Given the description of an element on the screen output the (x, y) to click on. 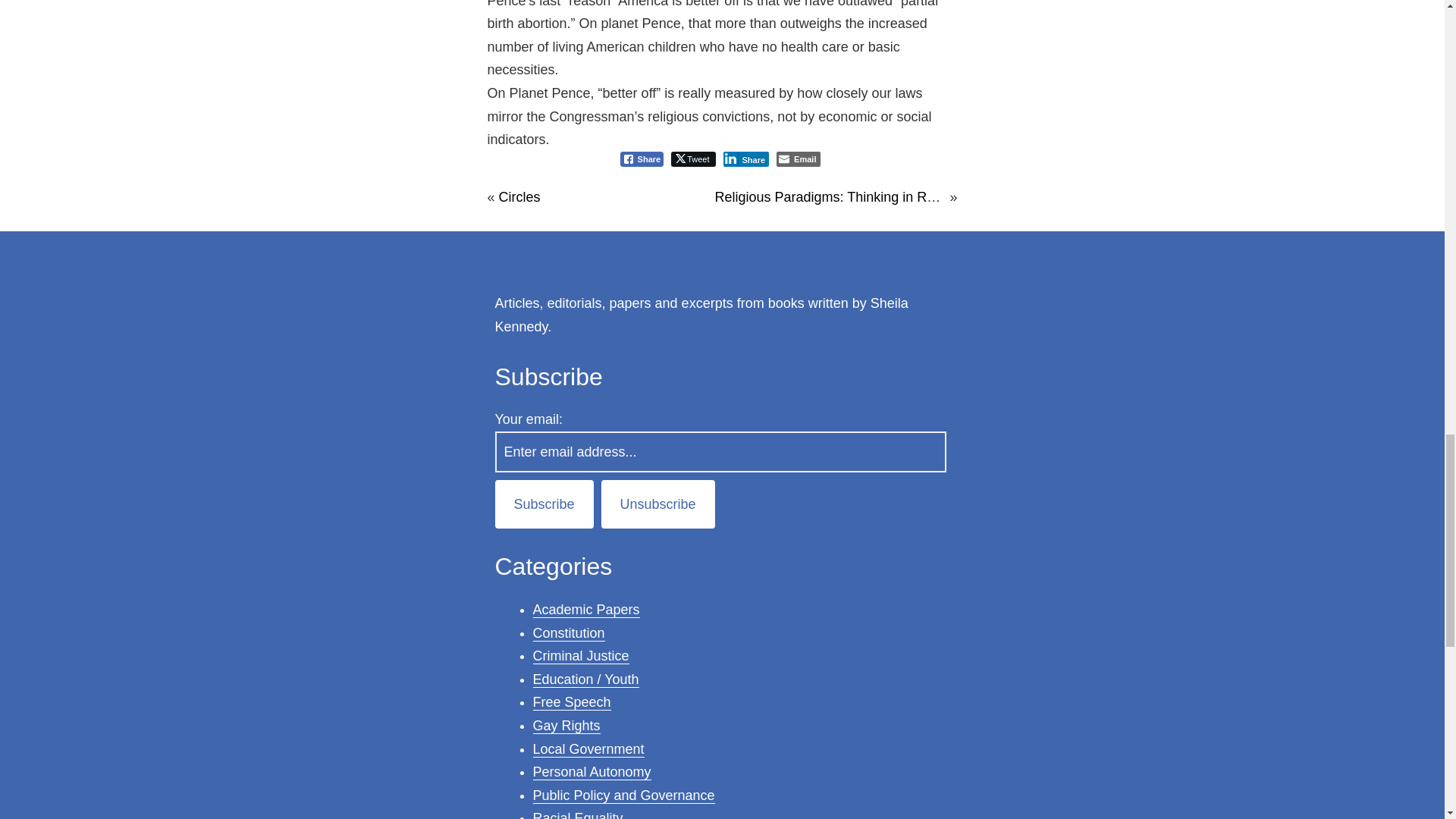
Constitution (568, 633)
Academic Papers (585, 609)
Racial Equality (577, 814)
Subscribe (543, 503)
Personal Autonomy (591, 772)
Unsubscribe (657, 503)
Public Policy and Governance (623, 795)
Share (641, 159)
Religious Paradigms: Thinking in Red and Blue (856, 197)
Circles (519, 197)
Subscribe (543, 503)
Gay Rights (565, 725)
Tweet (692, 159)
Email (798, 159)
Local Government (587, 749)
